Given the description of an element on the screen output the (x, y) to click on. 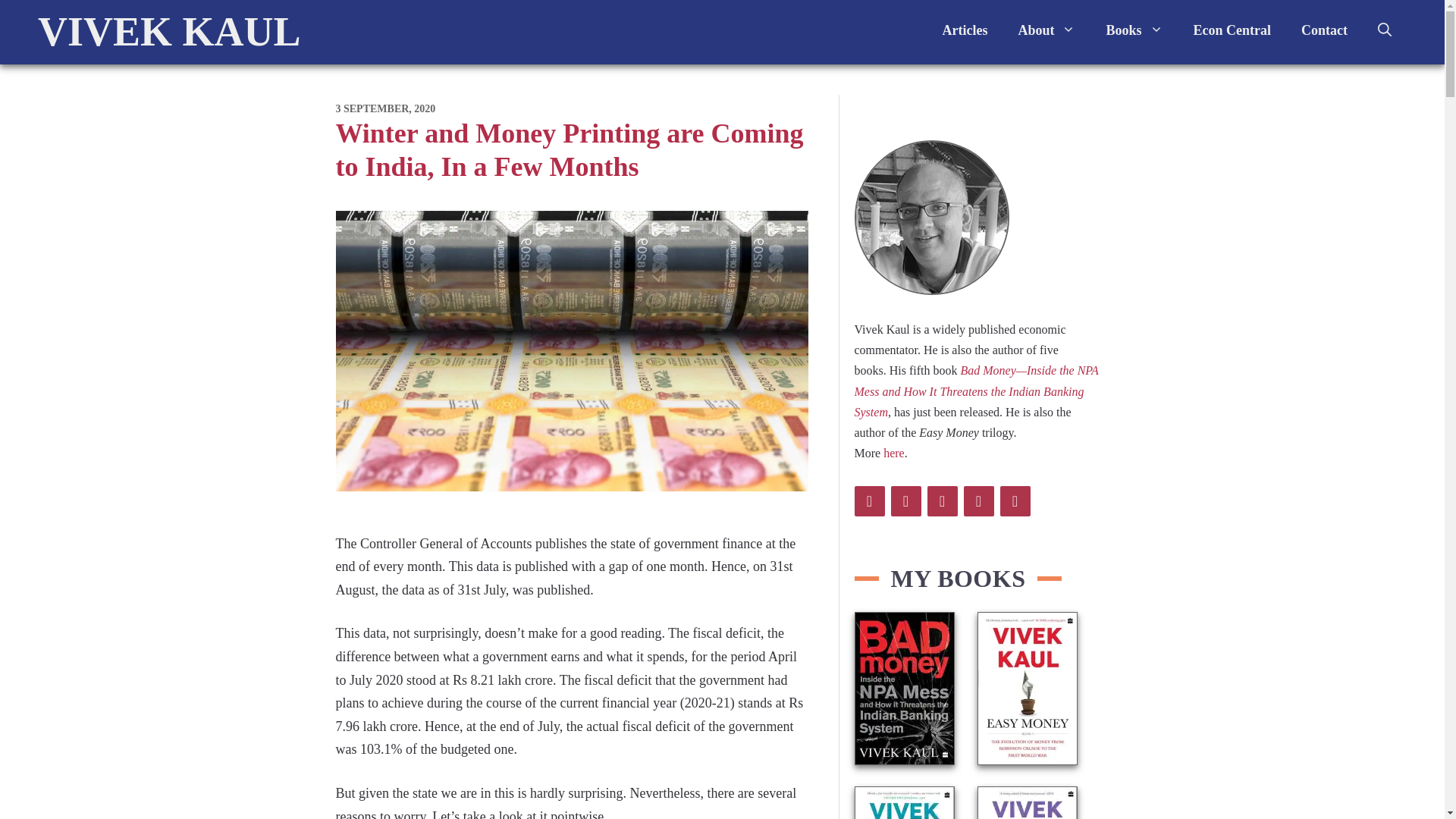
Articles (964, 30)
VIVEK KAUL (169, 31)
Get in touch  (1323, 30)
Contact (1323, 30)
Econ Central (1232, 30)
Books (1133, 30)
About (1046, 30)
Books written by Vivek Kaul (1133, 30)
